Given the description of an element on the screen output the (x, y) to click on. 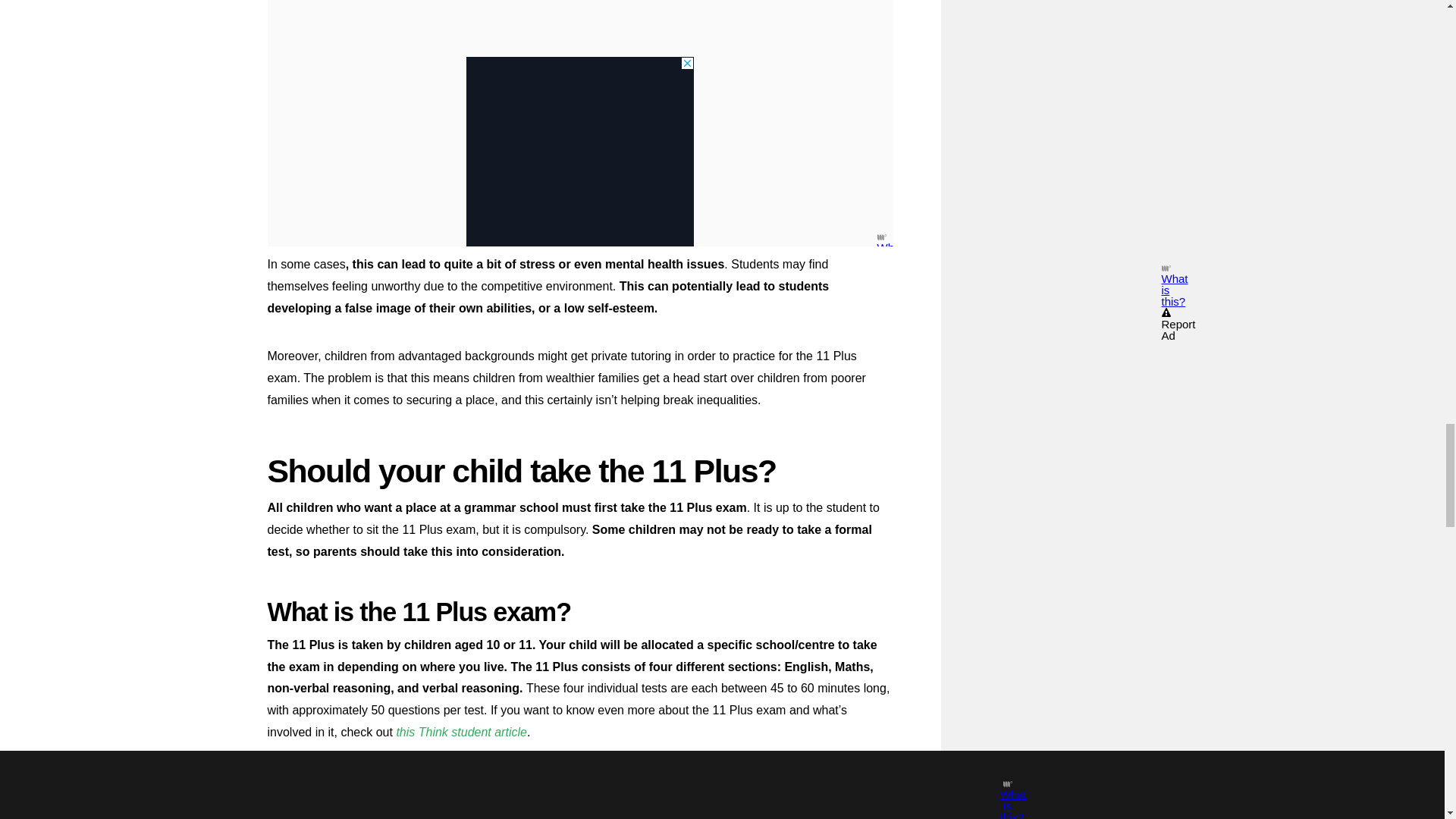
this Think student article (461, 731)
